Given the description of an element on the screen output the (x, y) to click on. 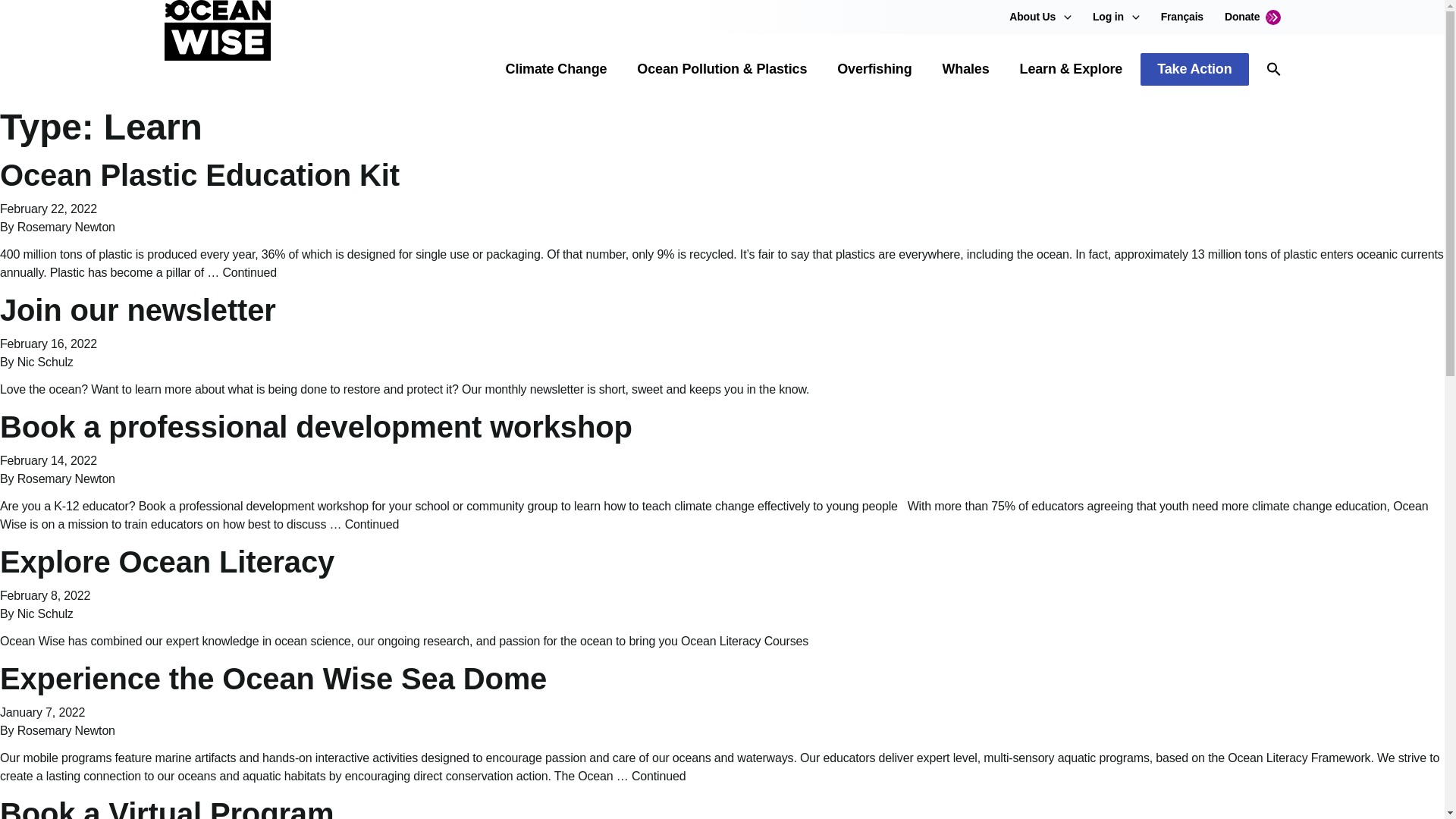
About Us (1032, 17)
Climate Change (556, 68)
Whales (966, 68)
Climate Change (556, 68)
Log in (1108, 17)
Donate (1252, 17)
Overfishing (874, 68)
Log in (1108, 17)
Ocean Wise (216, 50)
Donate (1252, 17)
About Us (1032, 17)
